Given the description of an element on the screen output the (x, y) to click on. 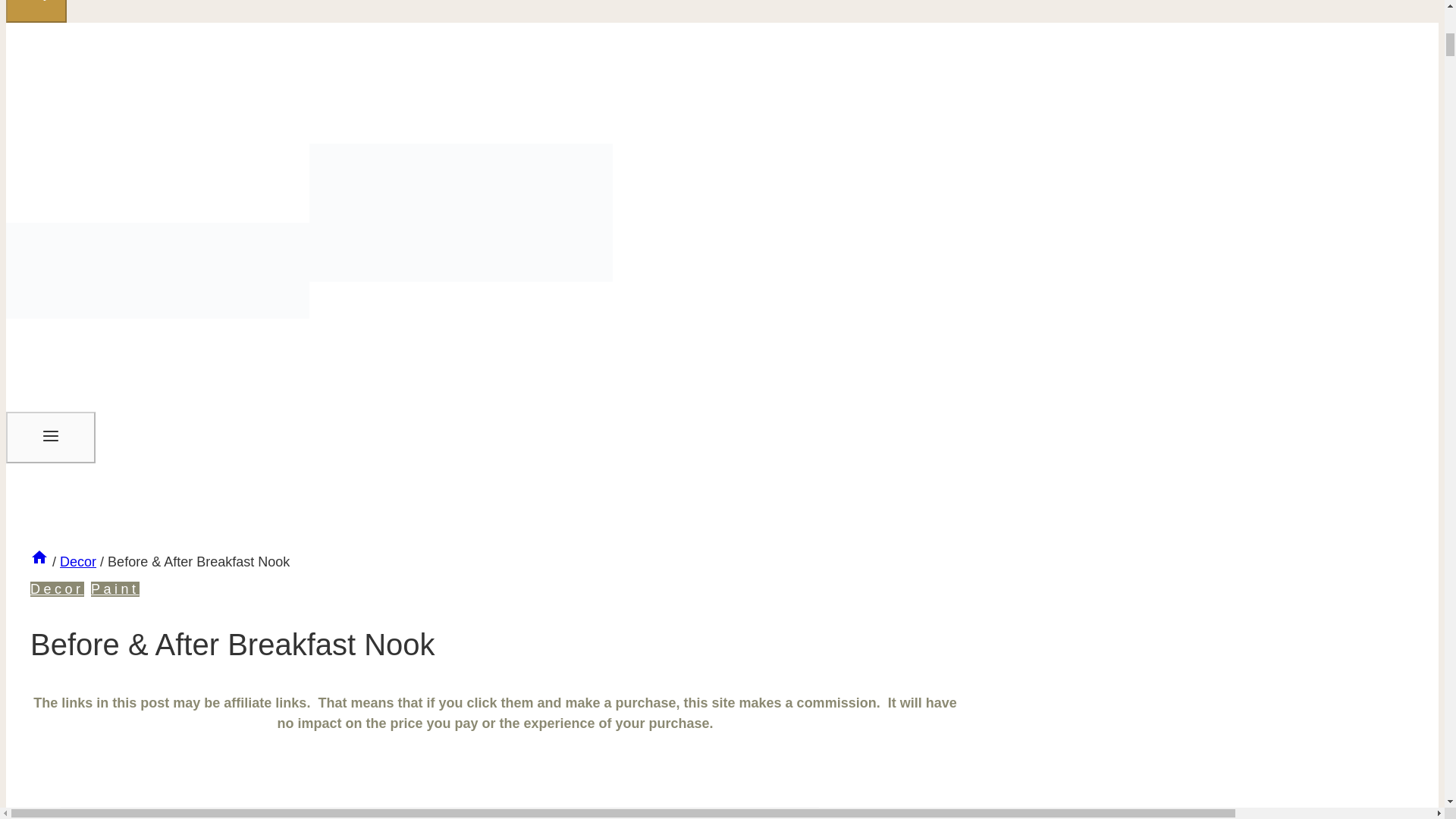
Paint (114, 589)
Decor (57, 589)
Home (39, 556)
TOGGLE MENU (50, 437)
TOGGLE MENU (50, 435)
SEARCH (35, 11)
Decor (77, 561)
Home (39, 561)
Home (39, 561)
